Given the description of an element on the screen output the (x, y) to click on. 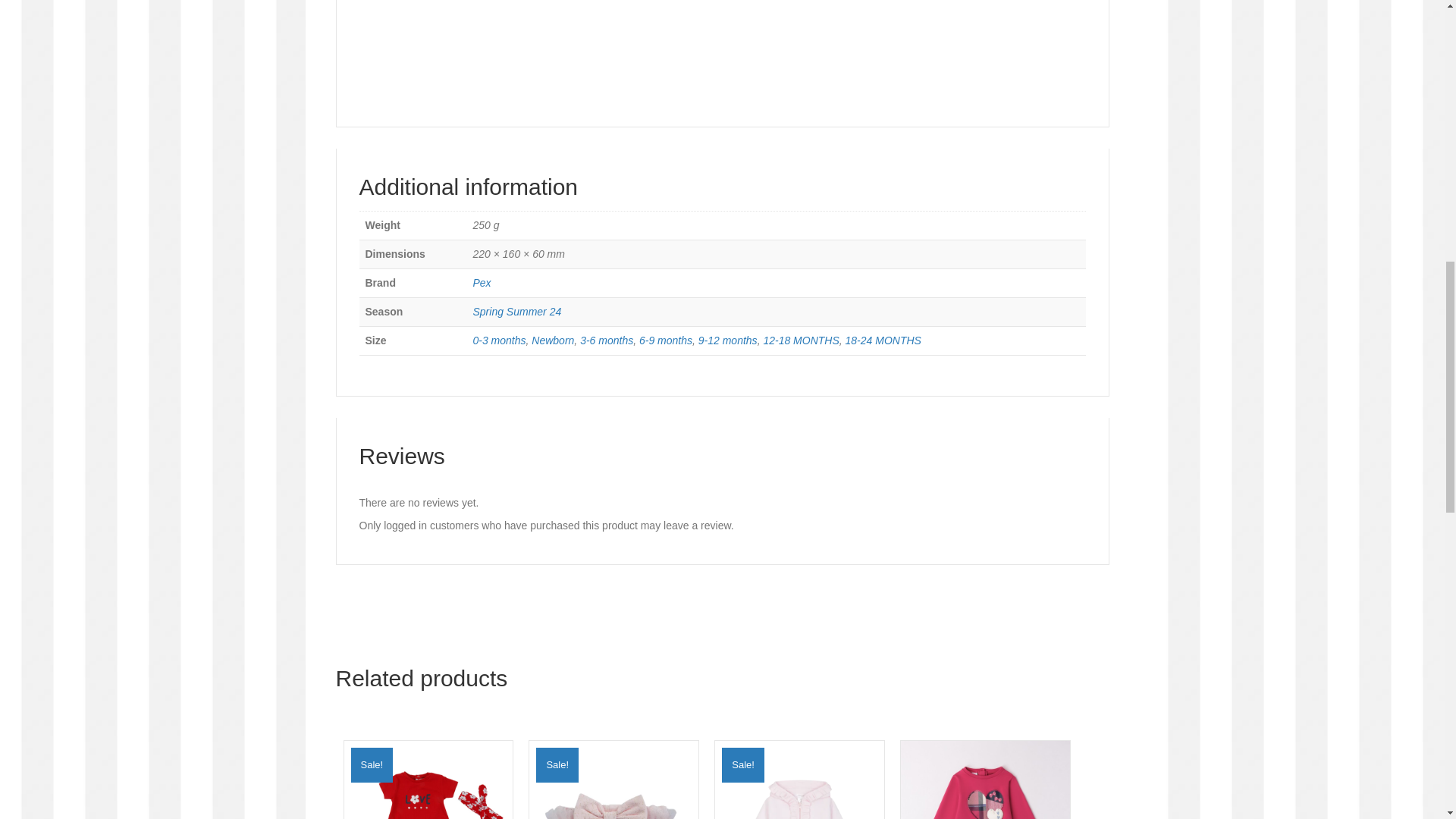
0-3 months (499, 340)
Spring Summer 24 (517, 311)
Pex (482, 282)
Newborn (552, 340)
